Given the description of an element on the screen output the (x, y) to click on. 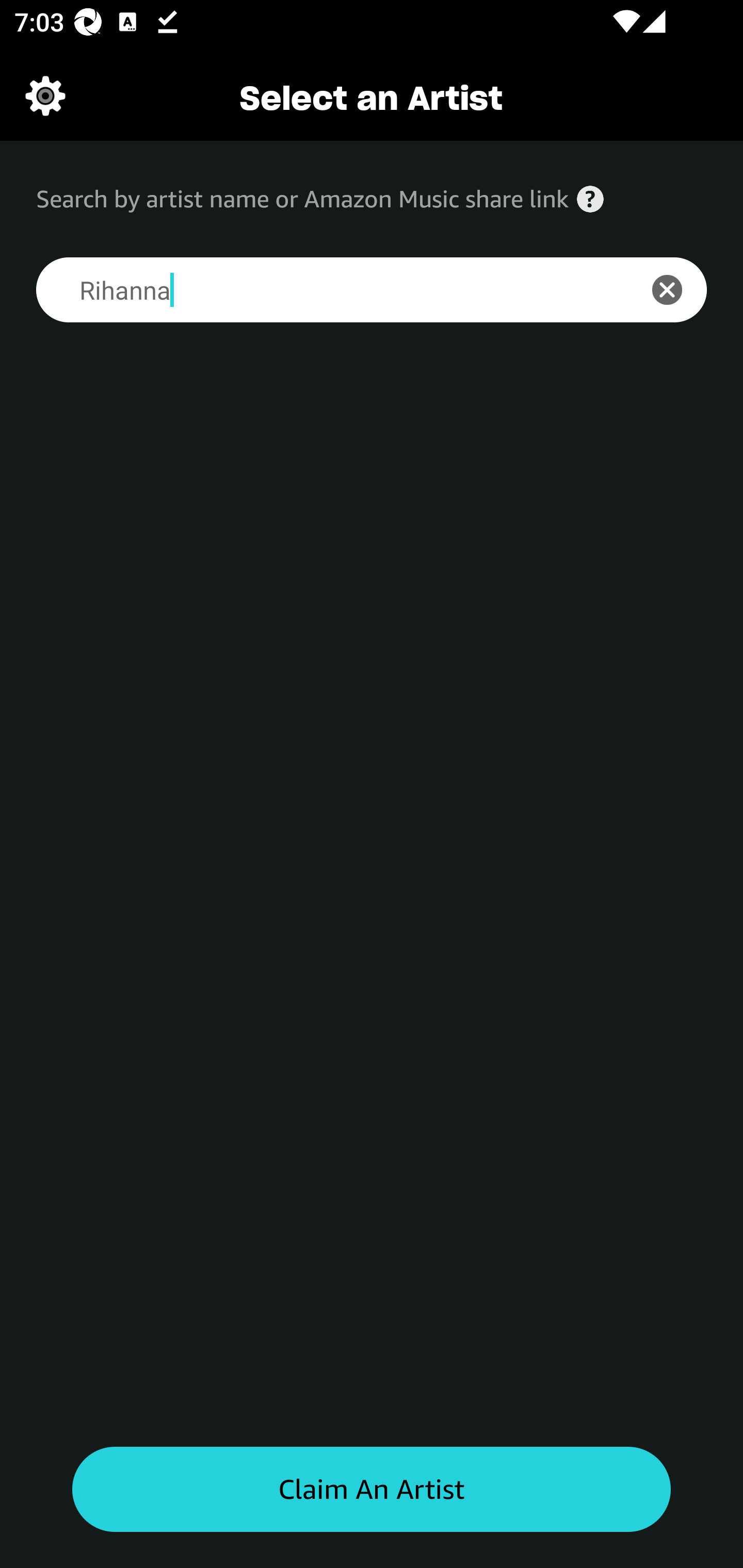
Help  icon (589, 199)
Rihanna Search for an artist search bar (324, 290)
 icon (677, 290)
Claim an artist button Claim An Artist (371, 1489)
